Given the description of an element on the screen output the (x, y) to click on. 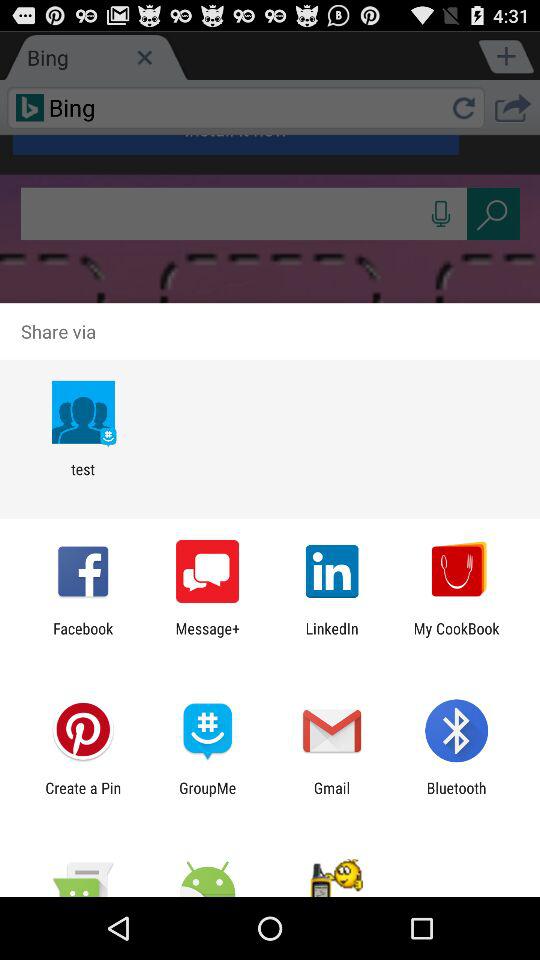
scroll to bluetooth app (456, 796)
